Given the description of an element on the screen output the (x, y) to click on. 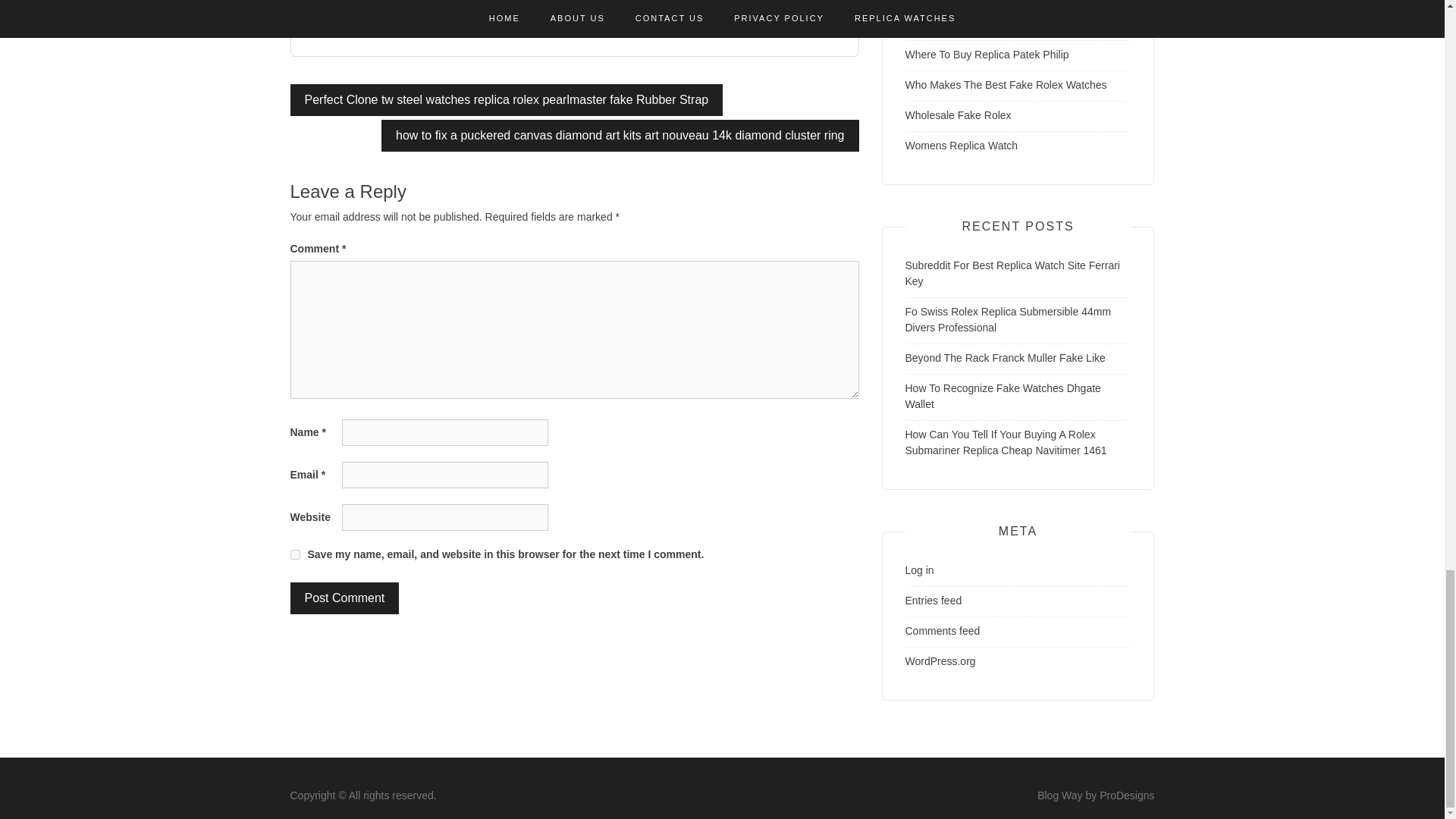
yes (294, 554)
Post Comment (343, 598)
Post Comment (343, 598)
